Given the description of an element on the screen output the (x, y) to click on. 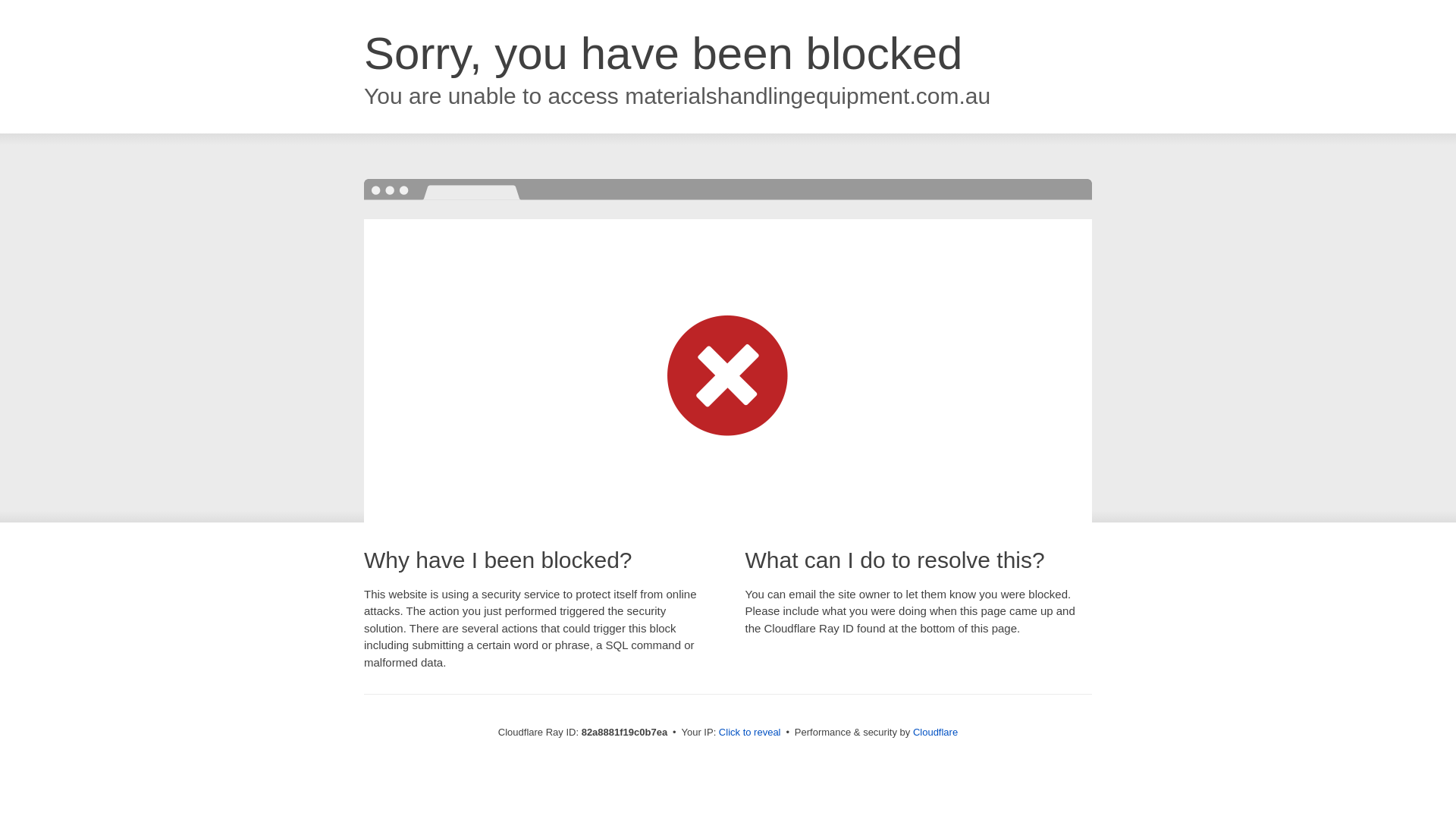
Click to reveal Element type: text (749, 732)
Cloudflare Element type: text (935, 731)
